Given the description of an element on the screen output the (x, y) to click on. 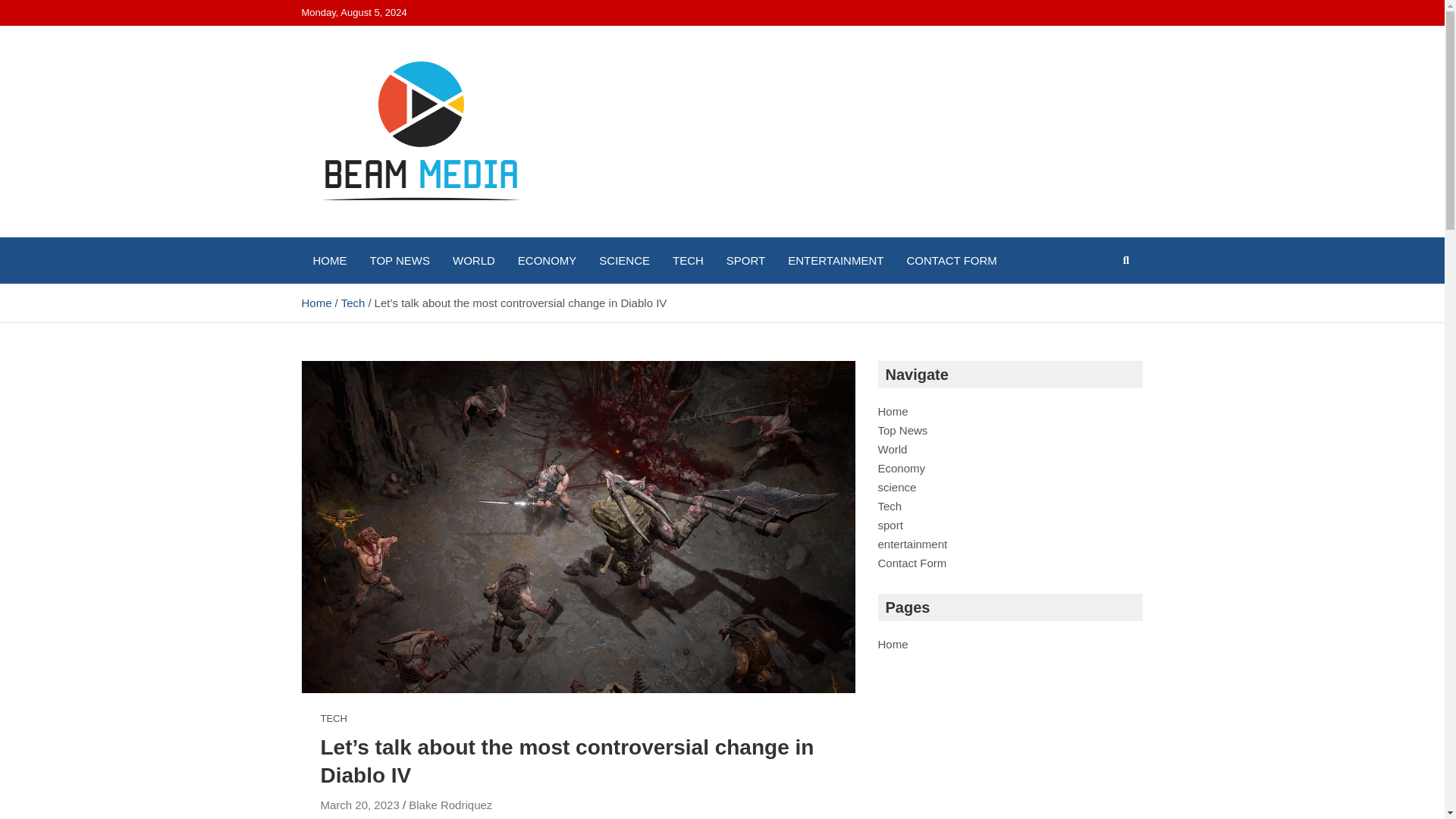
science (897, 486)
TOP NEWS (399, 260)
March 20, 2023 (359, 804)
ENTERTAINMENT (835, 260)
Contact Form (912, 562)
Home (892, 410)
Tech (889, 505)
entertainment (912, 543)
BEAM Media (392, 233)
SPORT (745, 260)
Top News (902, 430)
sport (889, 524)
World (892, 449)
HOME (329, 260)
Blake Rodriquez (450, 804)
